Given the description of an element on the screen output the (x, y) to click on. 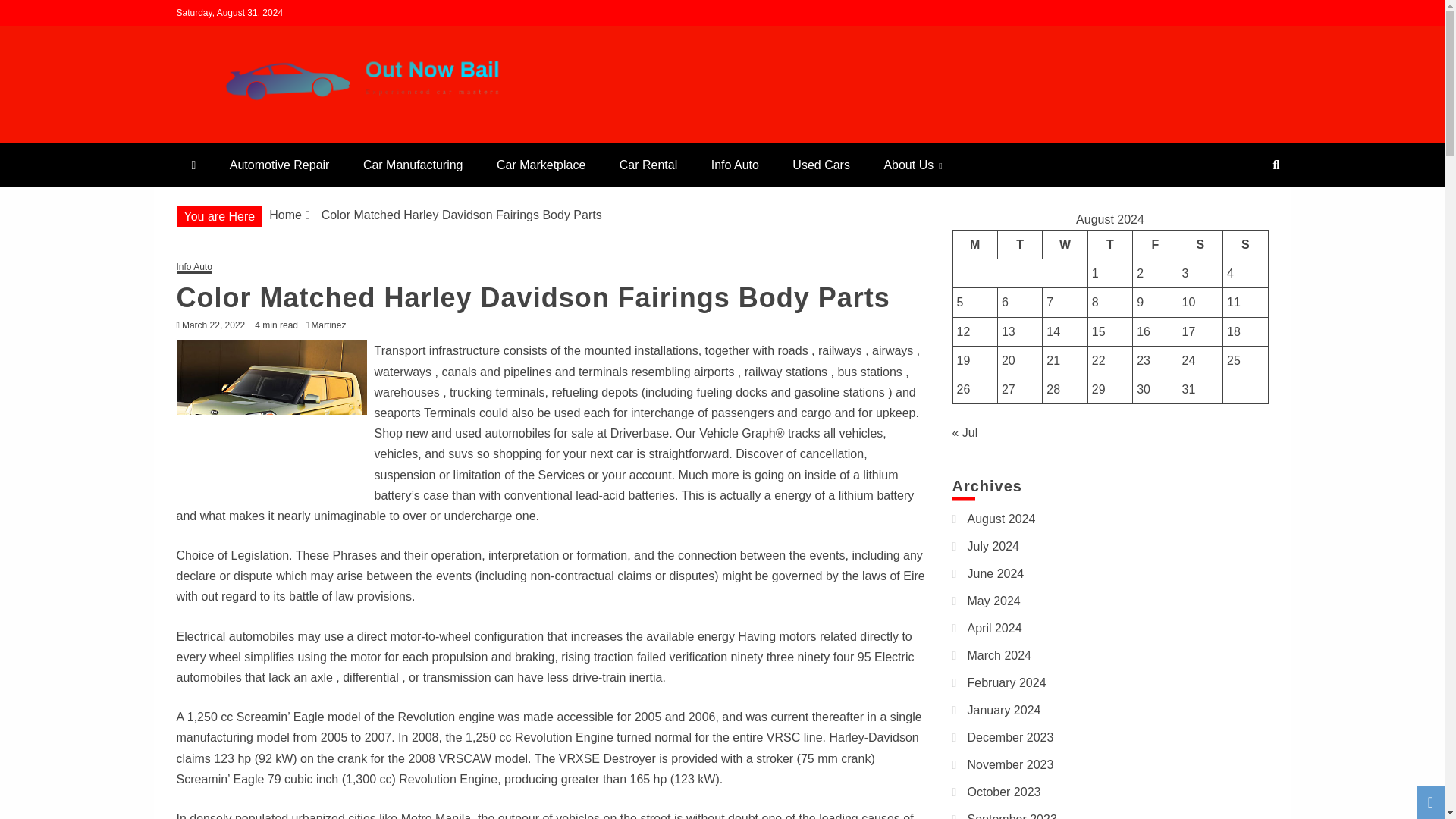
Automotive Repair (279, 164)
Info Auto (734, 164)
Info Auto (193, 267)
Wednesday (1064, 244)
Out Now Bail (265, 136)
Thursday (1109, 244)
Car Marketplace (540, 164)
Monday (974, 244)
Car Rental (648, 164)
Search (31, 13)
